Given the description of an element on the screen output the (x, y) to click on. 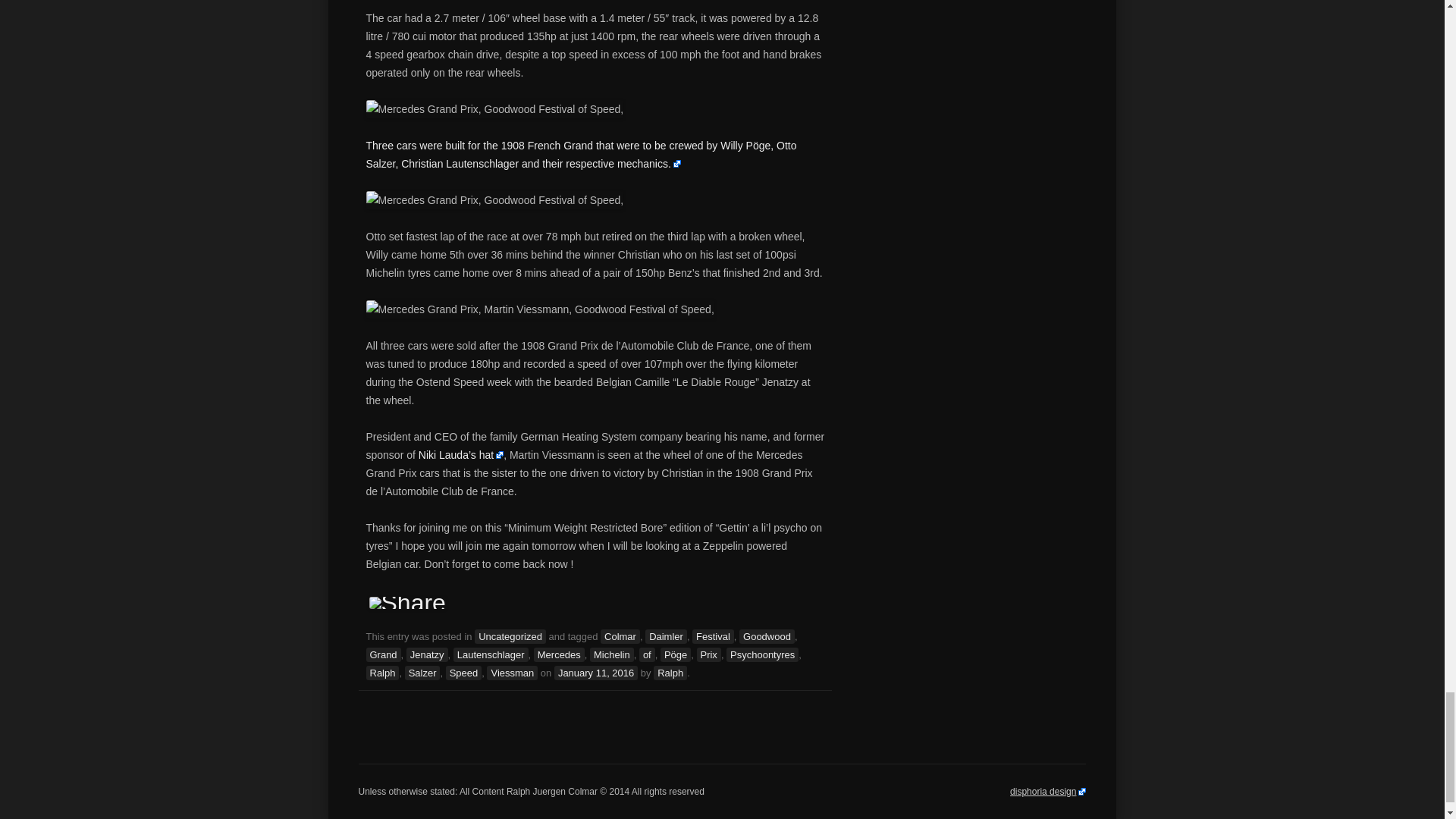
12:01 am (595, 672)
View all posts by Ralph (670, 672)
